Given the description of an element on the screen output the (x, y) to click on. 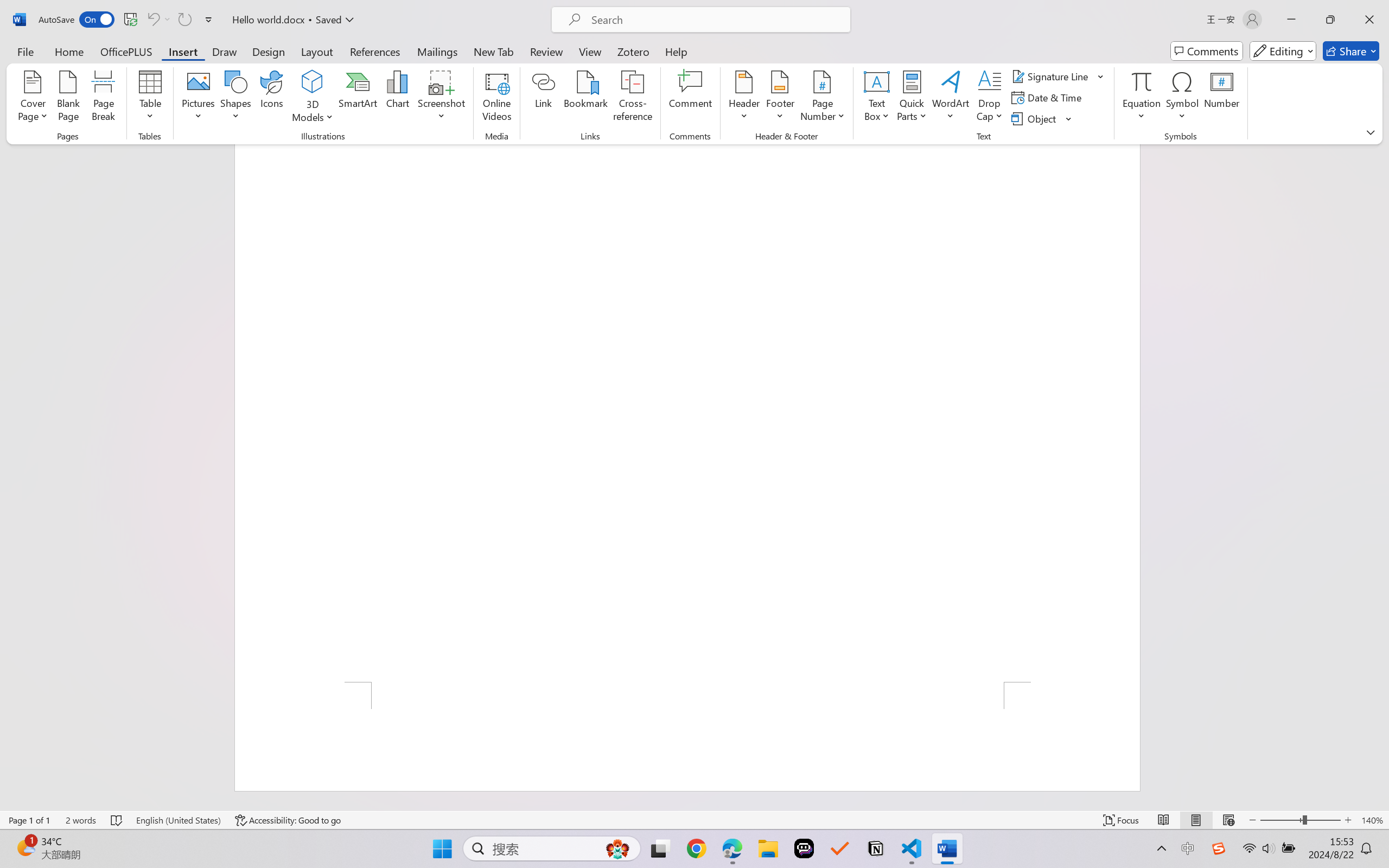
Mode (1283, 50)
OfficePLUS (126, 51)
Zoom In (1348, 819)
Minimize (1291, 19)
Layout (316, 51)
Read Mode (1163, 819)
Restore Down (1330, 19)
New Tab (493, 51)
